Given the description of an element on the screen output the (x, y) to click on. 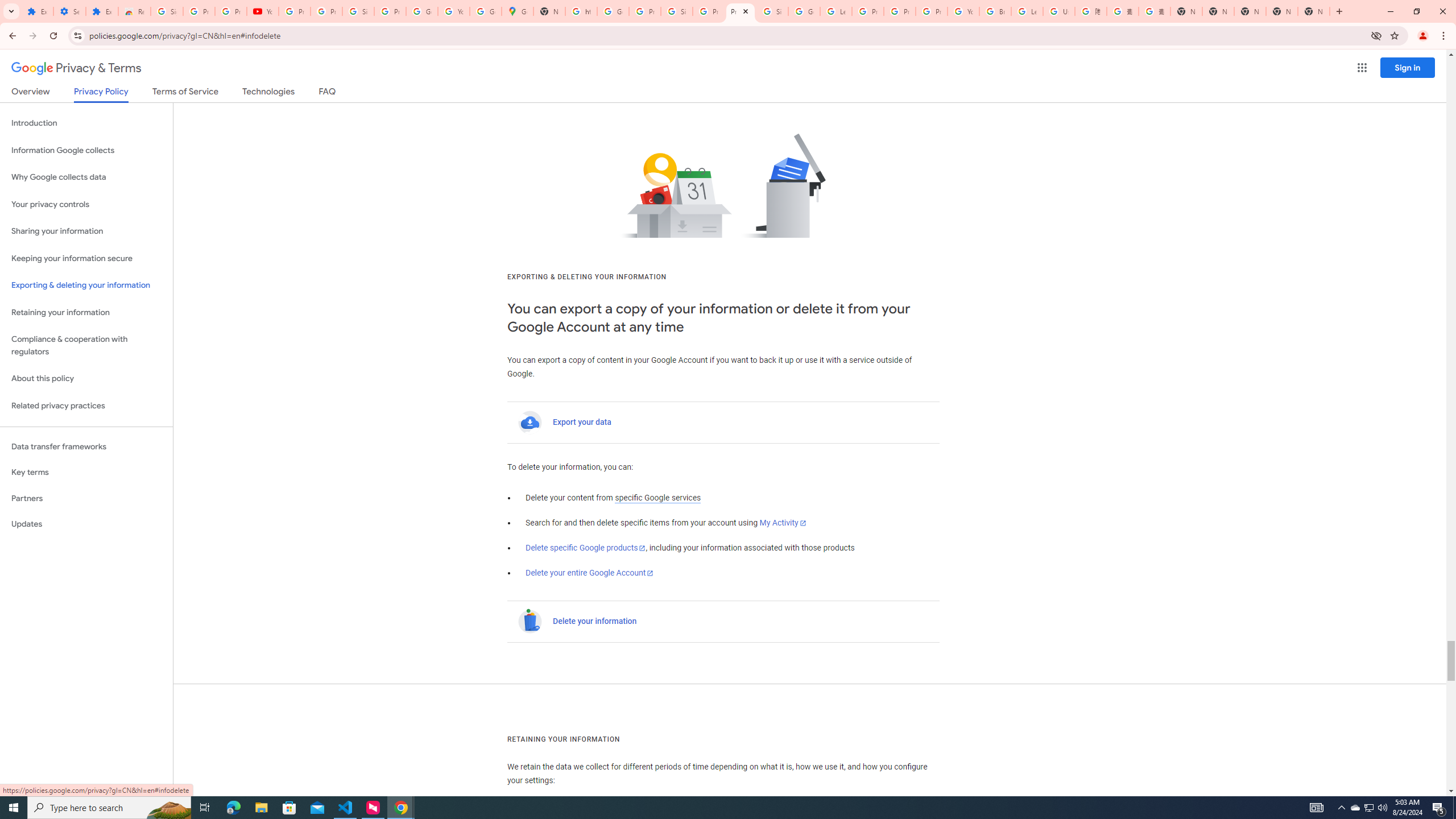
Reviews: Helix Fruit Jump Arcade Game (134, 11)
Related privacy practices (86, 405)
New Tab (1185, 11)
Export your data (582, 422)
Google Account (421, 11)
Extensions (101, 11)
